Given the description of an element on the screen output the (x, y) to click on. 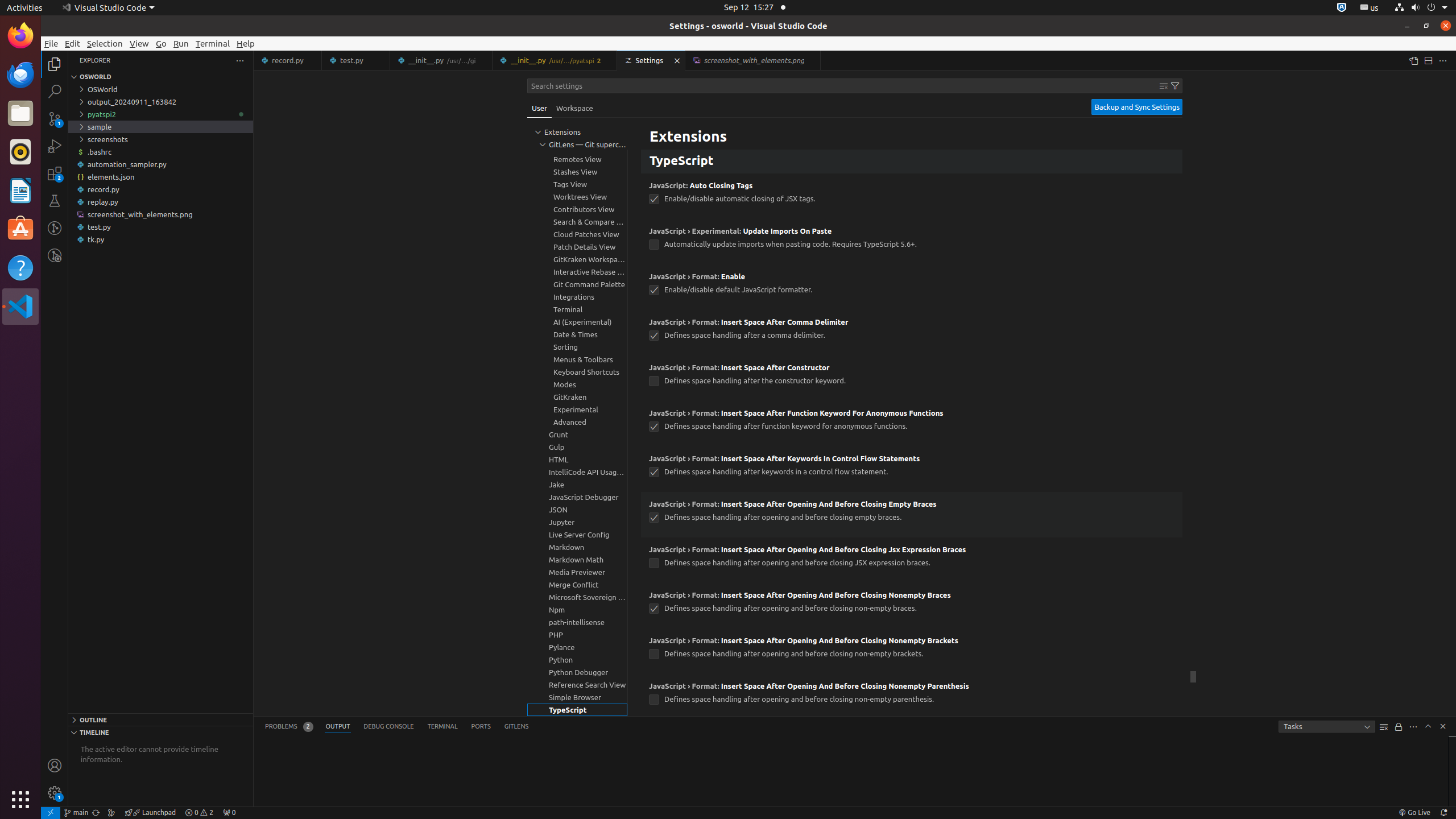
JavaScript › Format Insert Space After Opening And Before Closing Jsx Expression Braces. Defines space handling after opening and before closing JSX expression braces.  Element type: tree-item (911, 559)
Maximize Panel Size Element type: check-box (1427, 726)
Contributors View, group Element type: tree-item (577, 209)
Clear Settings Search Input Element type: push-button (1163, 85)
TypeScript, group Element type: tree-item (577, 709)
